Given the description of an element on the screen output the (x, y) to click on. 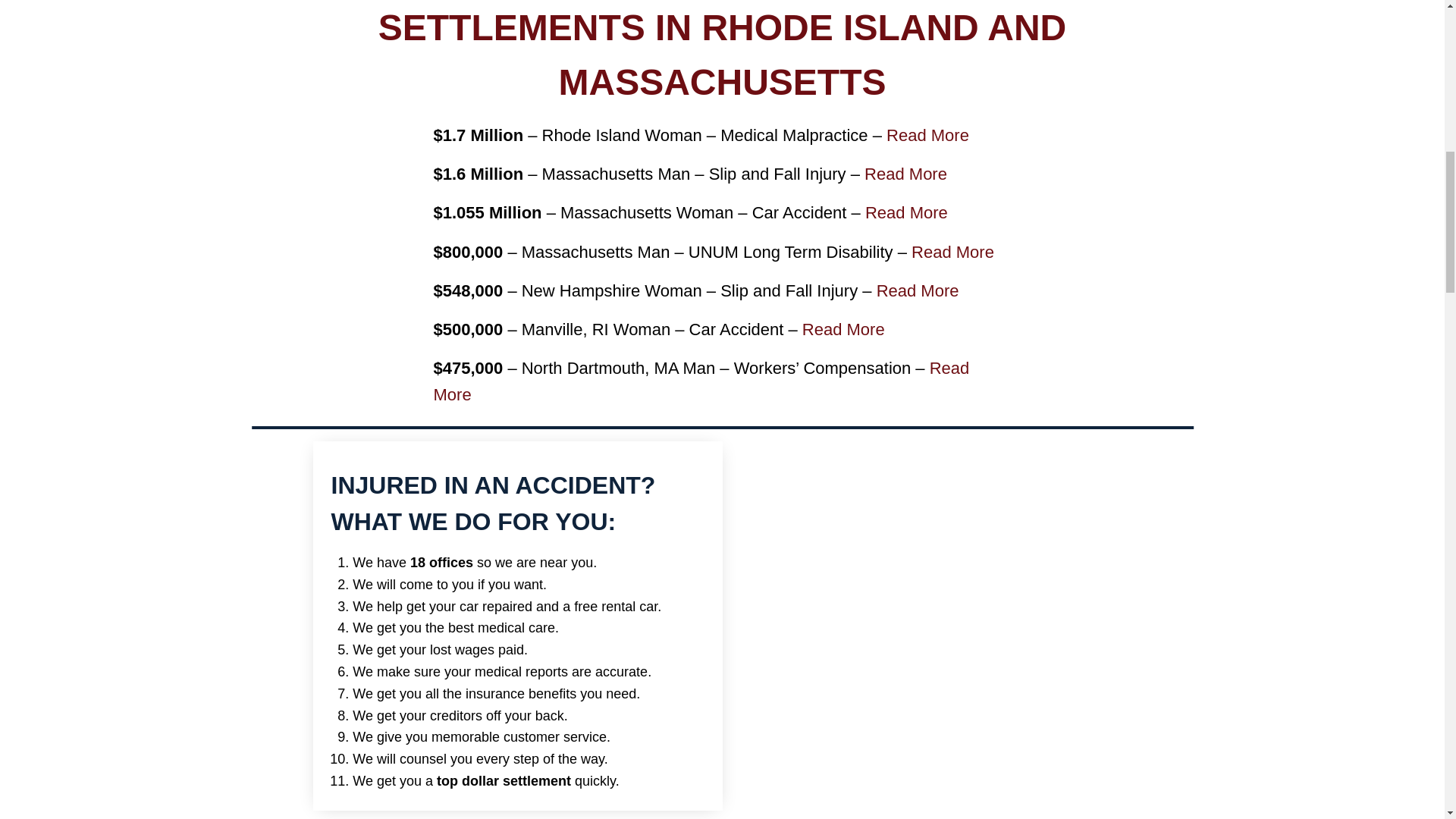
Read More (905, 212)
Read More (905, 173)
Read More (701, 381)
Read More (917, 290)
Read More (927, 135)
Read More (843, 329)
Read More (952, 251)
